Given the description of an element on the screen output the (x, y) to click on. 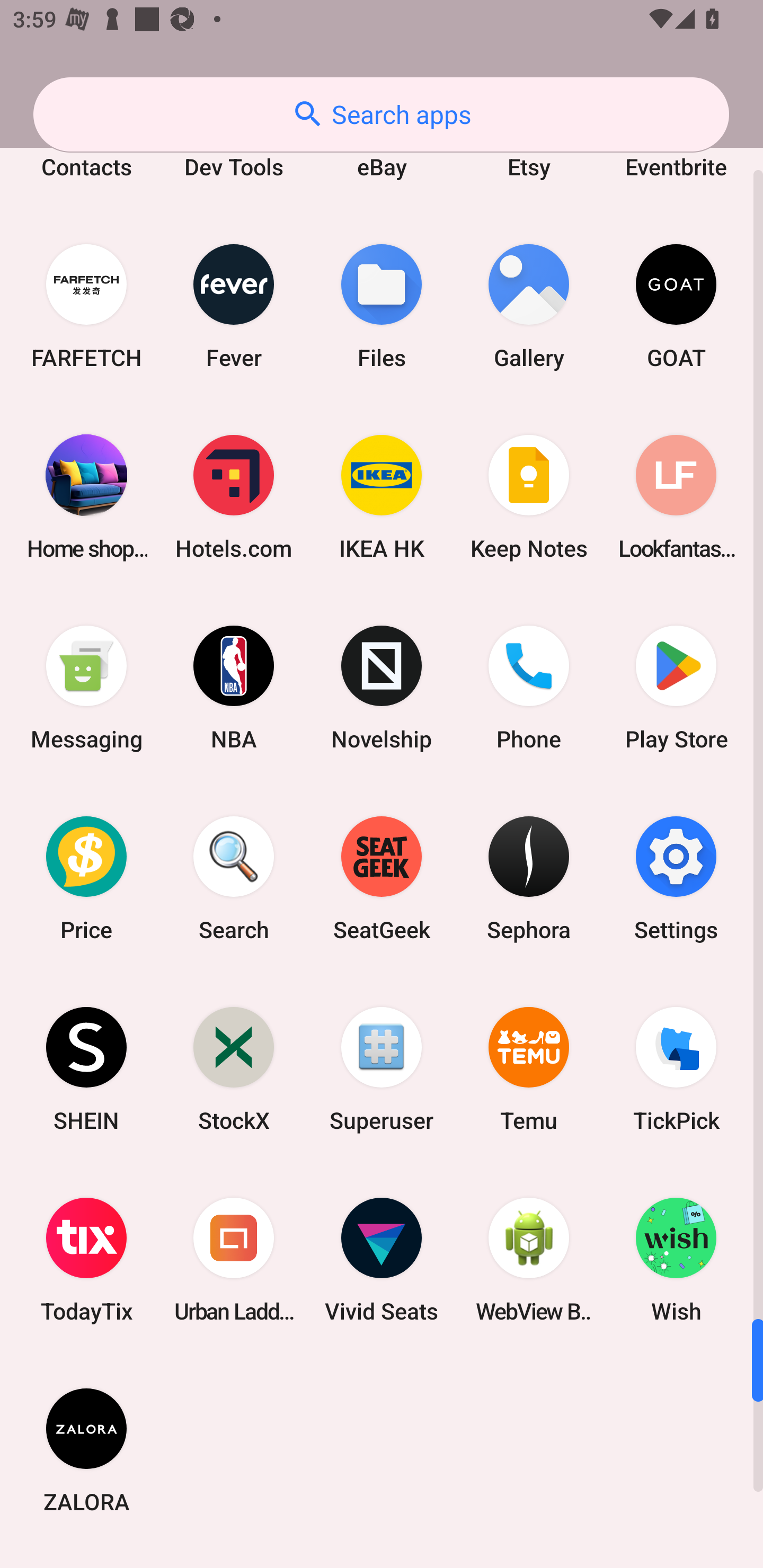
  Search apps (381, 114)
FARFETCH (86, 305)
Fever (233, 305)
Files (381, 305)
Gallery (528, 305)
GOAT (676, 305)
Home shopping (86, 496)
Hotels.com (233, 496)
IKEA HK (381, 496)
Keep Notes (528, 496)
Lookfantastic (676, 496)
Messaging (86, 687)
NBA (233, 687)
Novelship (381, 687)
Phone (528, 687)
Play Store (676, 687)
Price (86, 877)
Search (233, 877)
SeatGeek (381, 877)
Sephora (528, 877)
Settings (676, 877)
SHEIN (86, 1069)
StockX (233, 1069)
Superuser (381, 1069)
Temu (528, 1069)
TickPick (676, 1069)
TodayTix (86, 1259)
Urban Ladder (233, 1259)
Vivid Seats (381, 1259)
WebView Browser Tester (528, 1259)
Wish (676, 1259)
ZALORA (86, 1450)
